Given the description of an element on the screen output the (x, y) to click on. 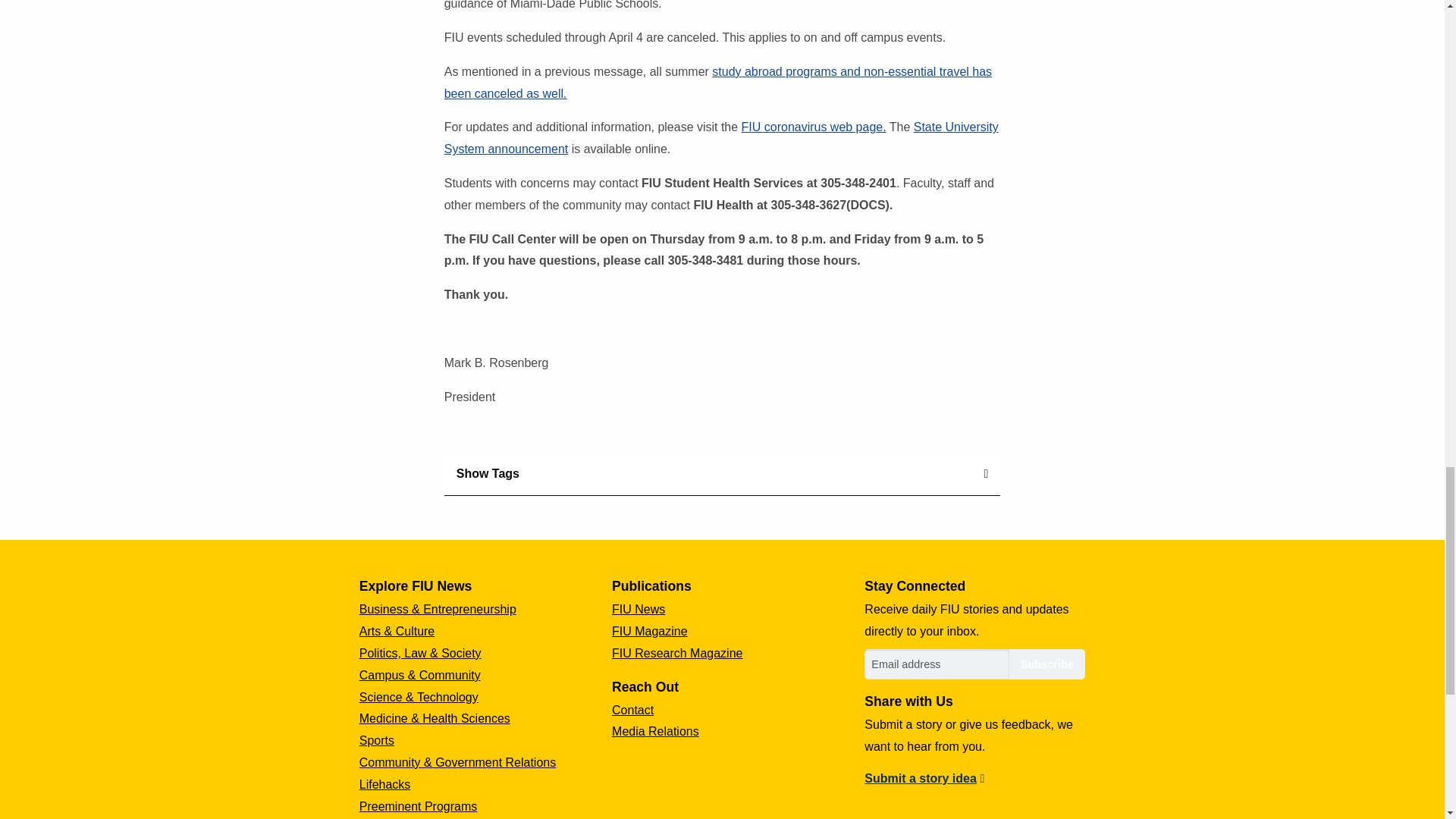
Sports (376, 739)
State University System announcement (721, 137)
Subscribe (1046, 664)
Show Tags (722, 474)
FIU coronavirus web page. (813, 126)
Preeminent Programs (418, 806)
Lifehacks (384, 784)
